Given the description of an element on the screen output the (x, y) to click on. 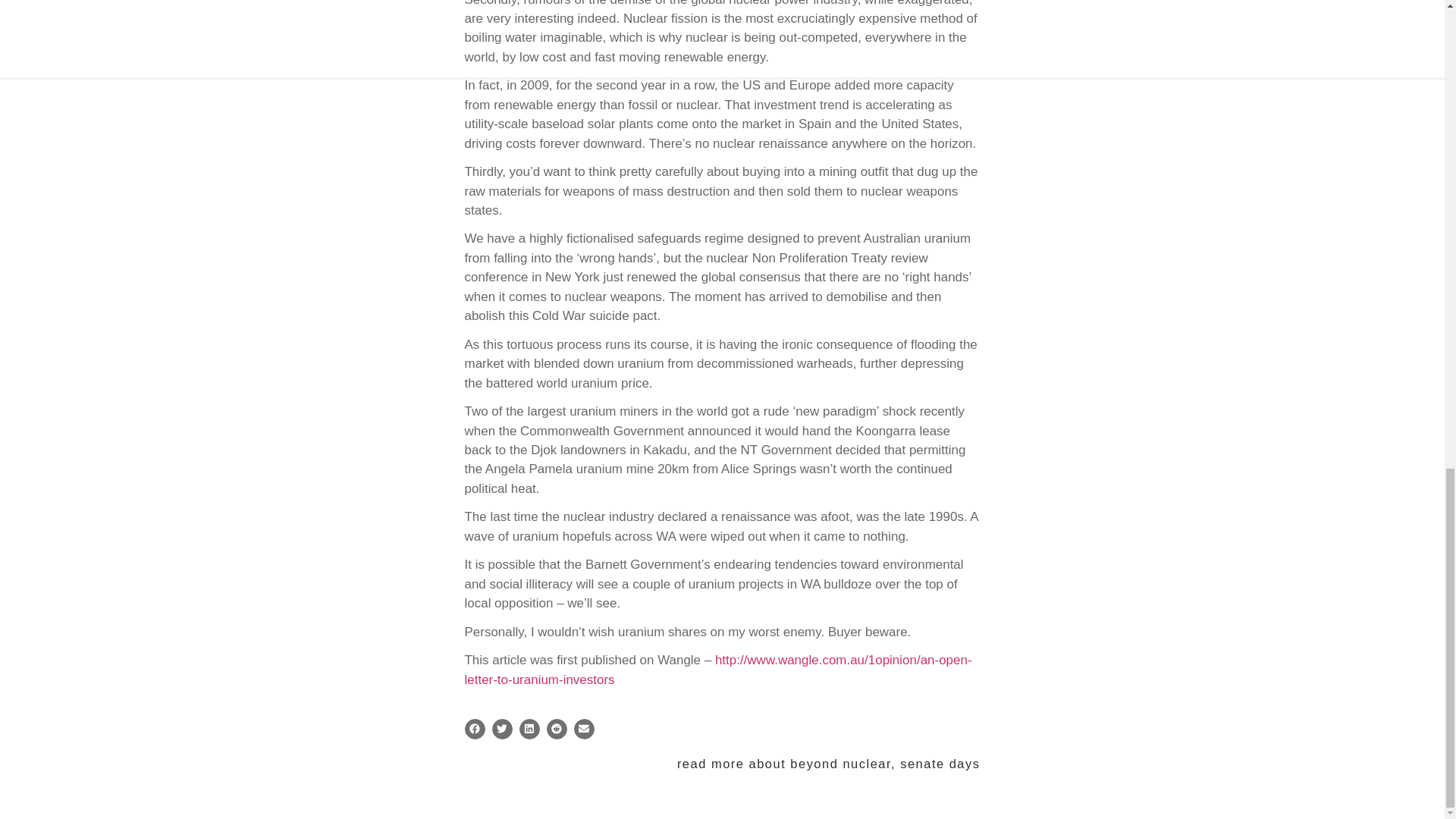
beyond nuclear (840, 763)
senate days (939, 763)
